Given the description of an element on the screen output the (x, y) to click on. 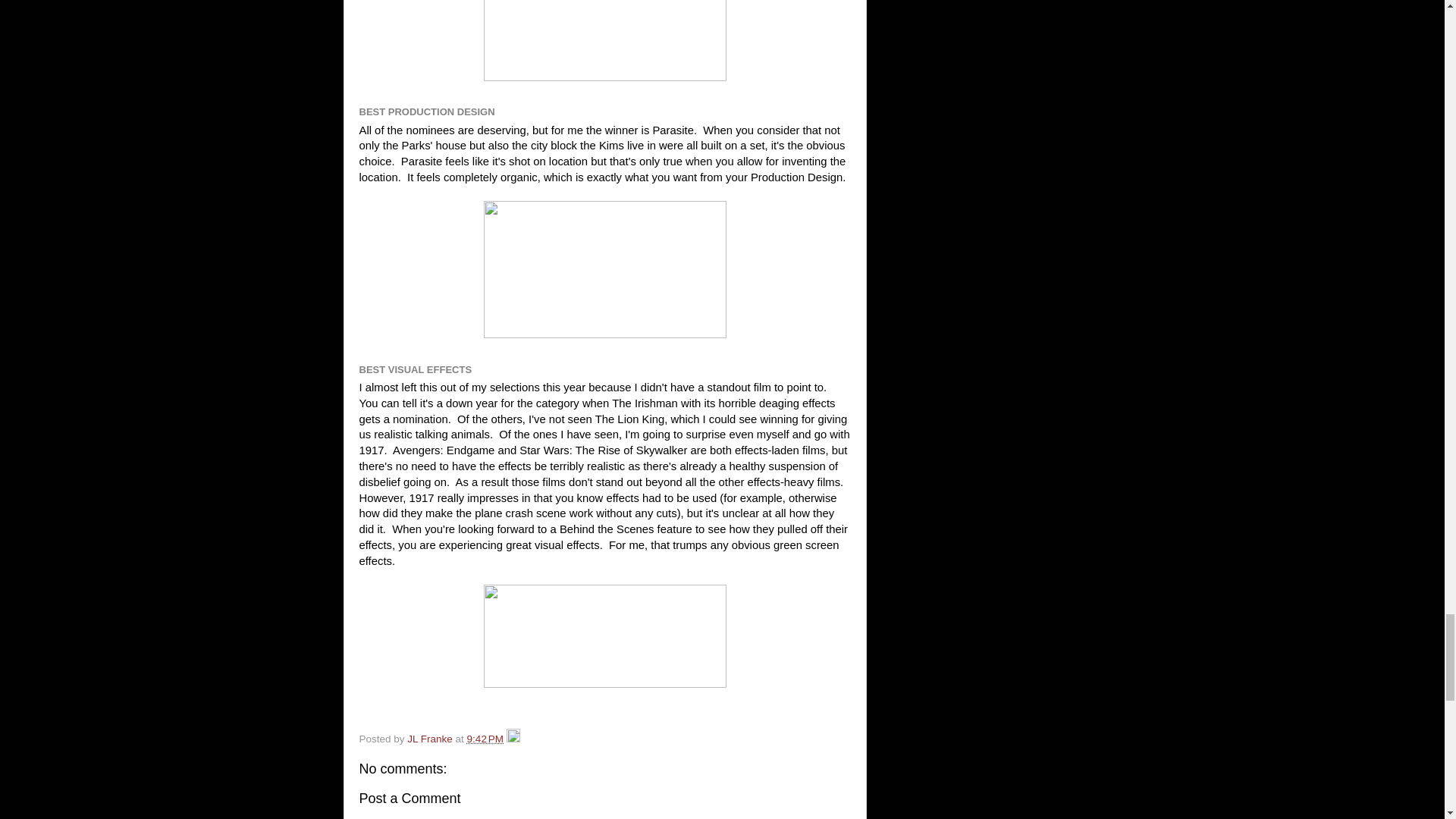
JL Franke (430, 738)
Edit Post (512, 738)
author profile (430, 738)
permanent link (485, 738)
